Given the description of an element on the screen output the (x, y) to click on. 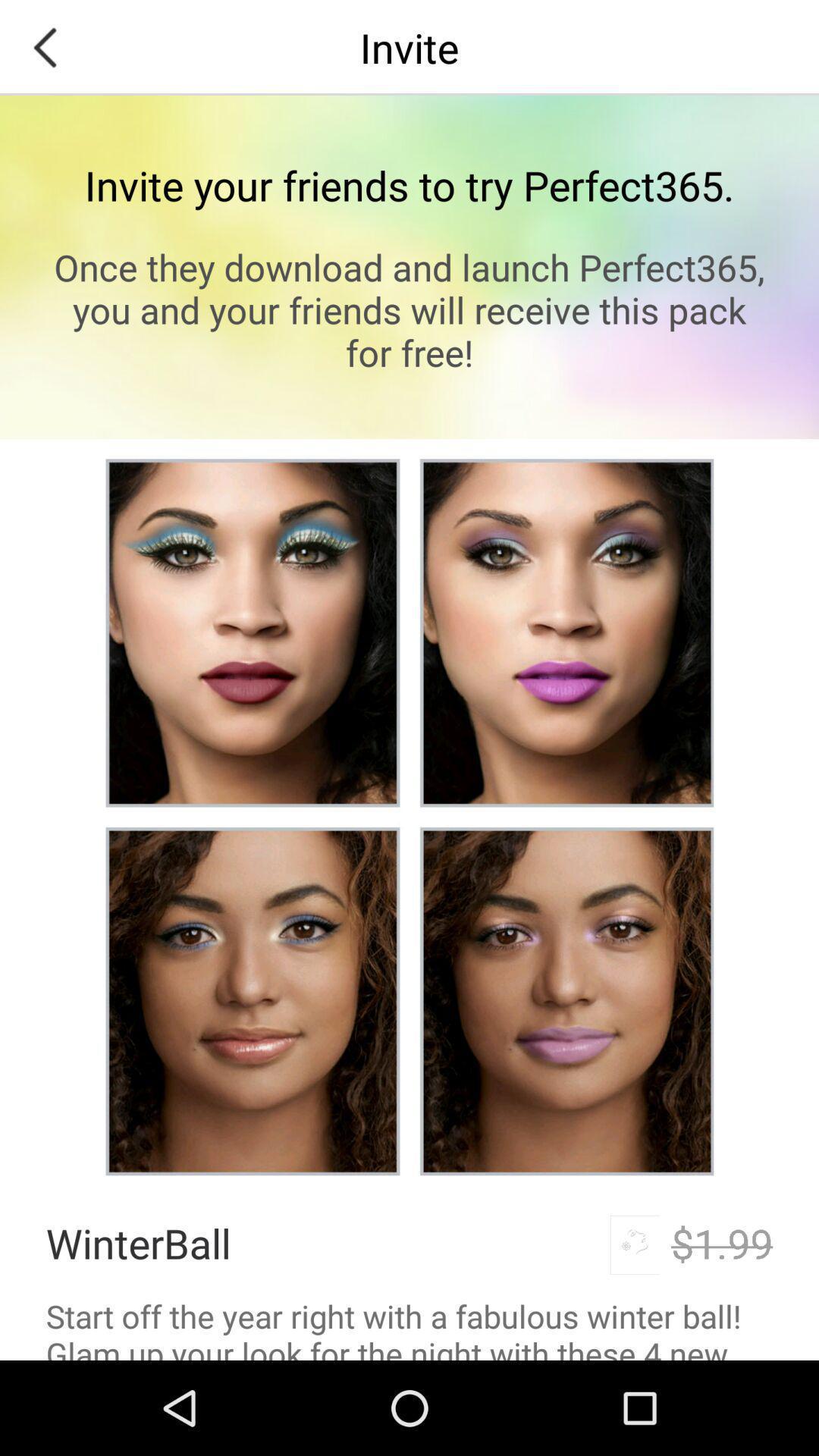
open once they download (409, 309)
